Given the description of an element on the screen output the (x, y) to click on. 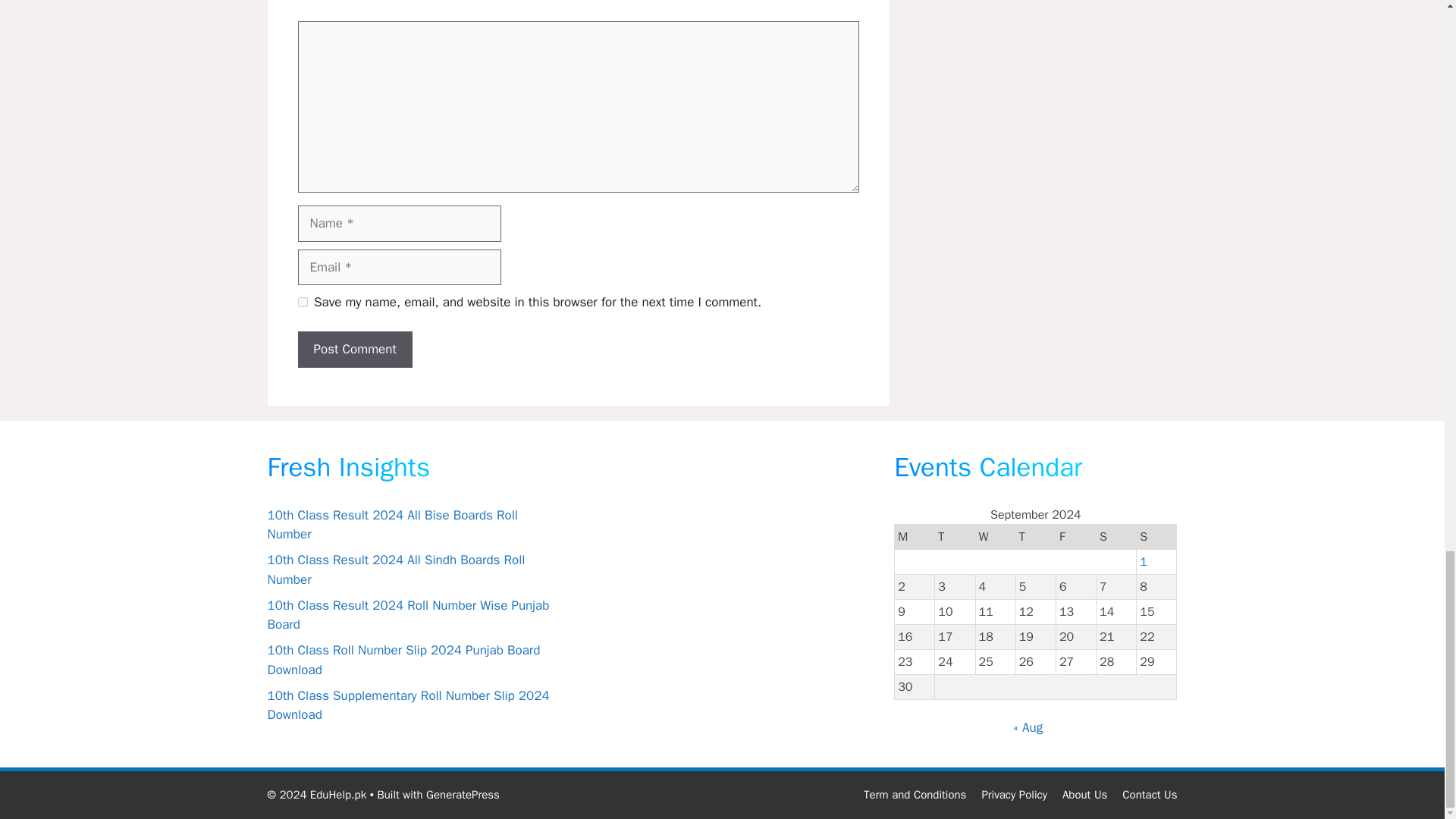
Sunday (1156, 536)
Post Comment (354, 349)
Saturday (1116, 536)
Friday (1075, 536)
Post Comment (354, 349)
Thursday (1034, 536)
Tuesday (954, 536)
Monday (914, 536)
Wednesday (994, 536)
yes (302, 302)
